Given the description of an element on the screen output the (x, y) to click on. 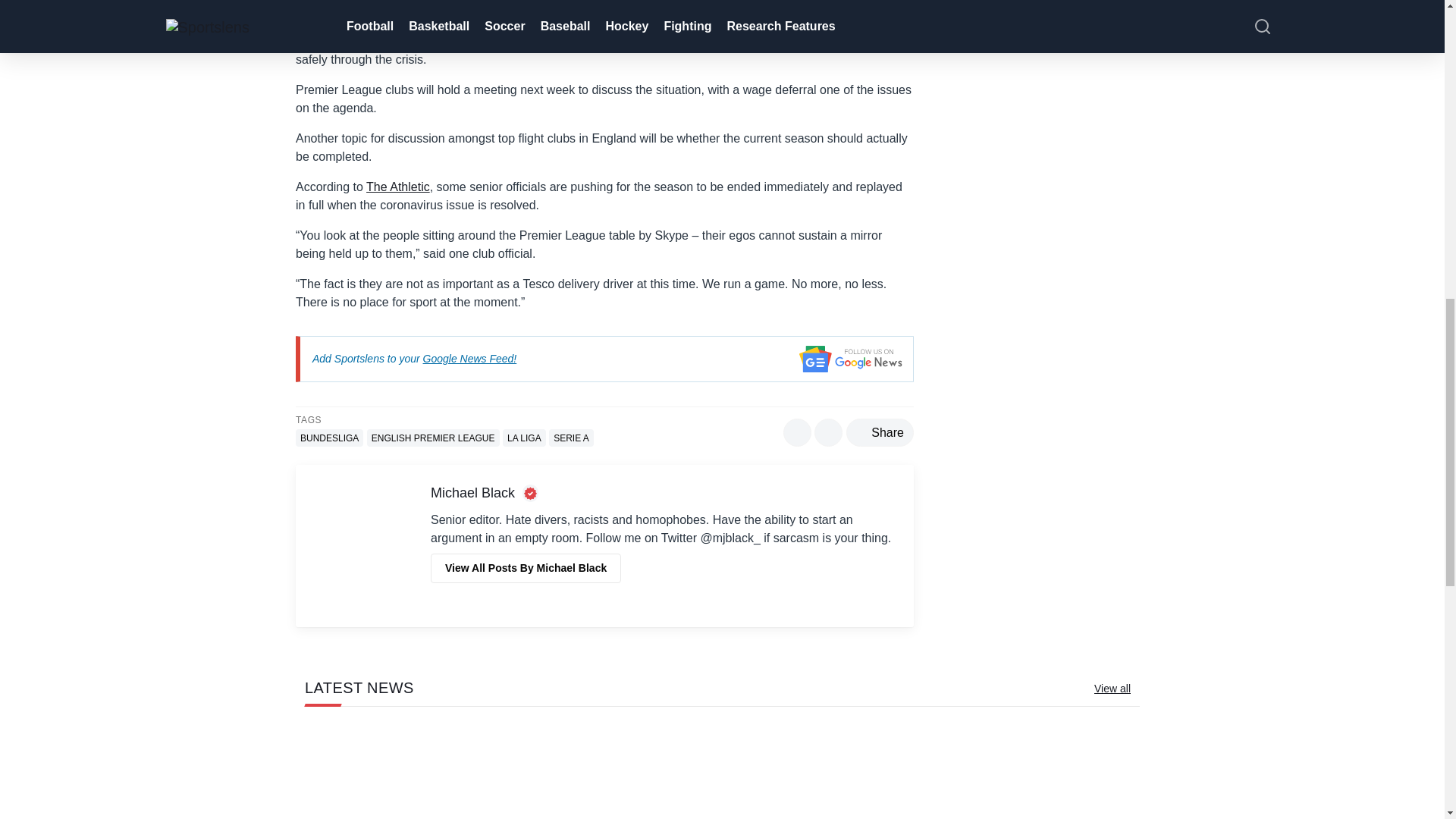
The Athletic (397, 186)
ENGLISH PREMIER LEAGUE (432, 437)
Share (879, 432)
View All Posts By Michael Black (525, 568)
Google News Feed! (469, 358)
LA LIGA (524, 437)
BUNDESLIGA (328, 437)
SERIE A (571, 437)
